Given the description of an element on the screen output the (x, y) to click on. 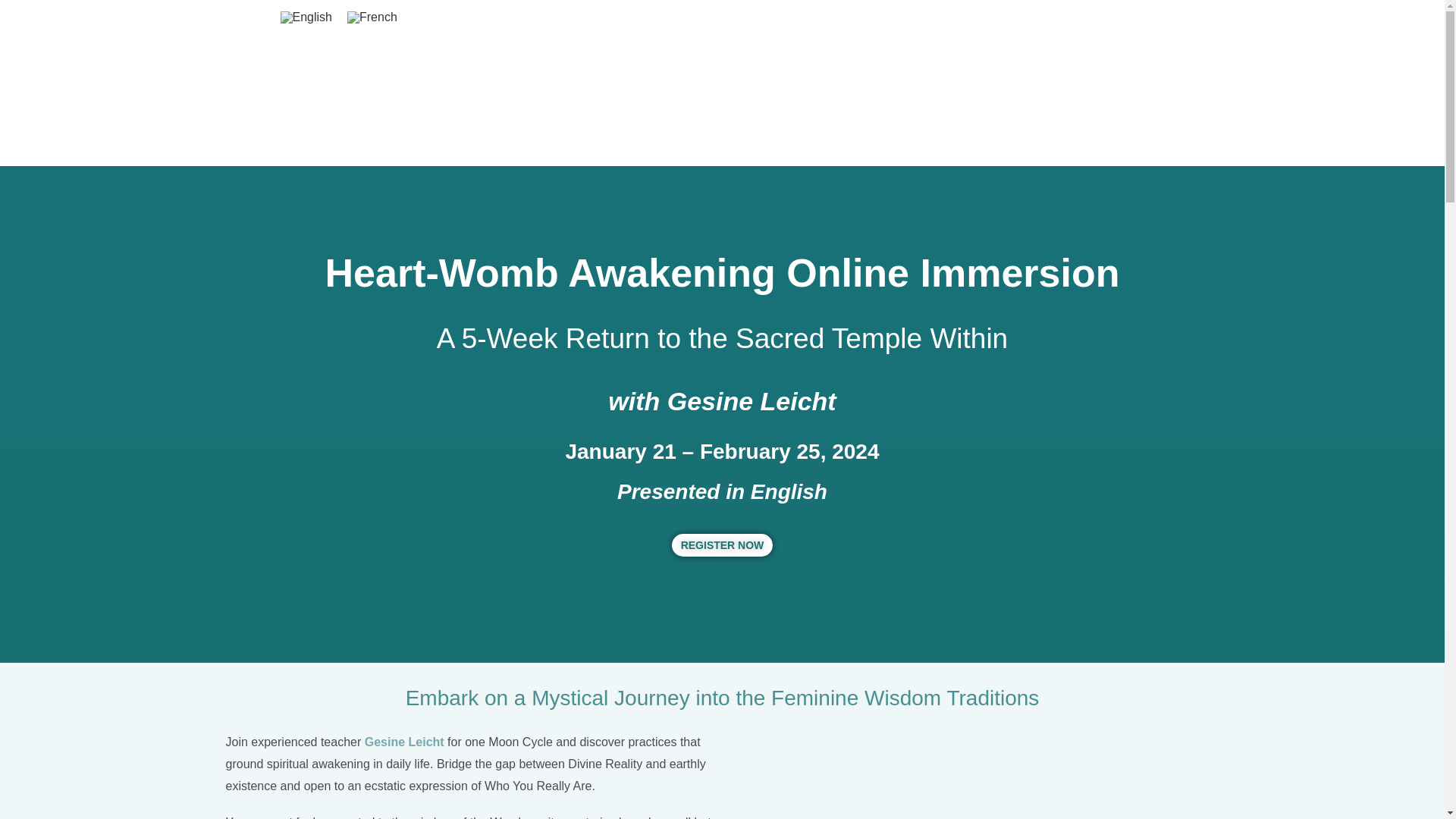
Contact Us (1003, 17)
Yoga (754, 66)
Login (1129, 17)
Book France (807, 17)
Book Mexico (907, 17)
Meditation (674, 66)
